Given the description of an element on the screen output the (x, y) to click on. 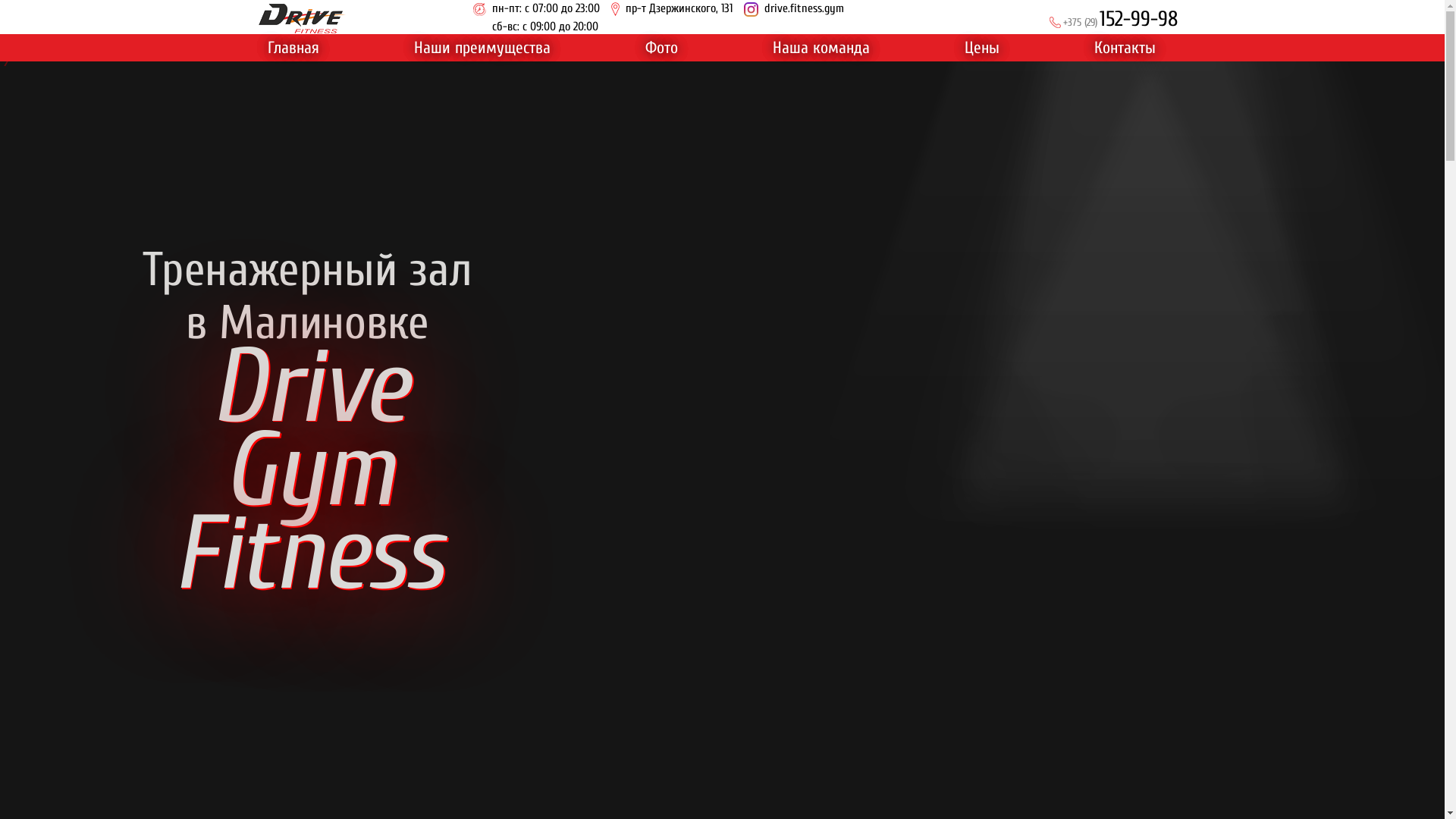
+375 (29)
152-99-98 Element type: text (1113, 18)
drive.fitness.gym Element type: text (793, 8)
